Given the description of an element on the screen output the (x, y) to click on. 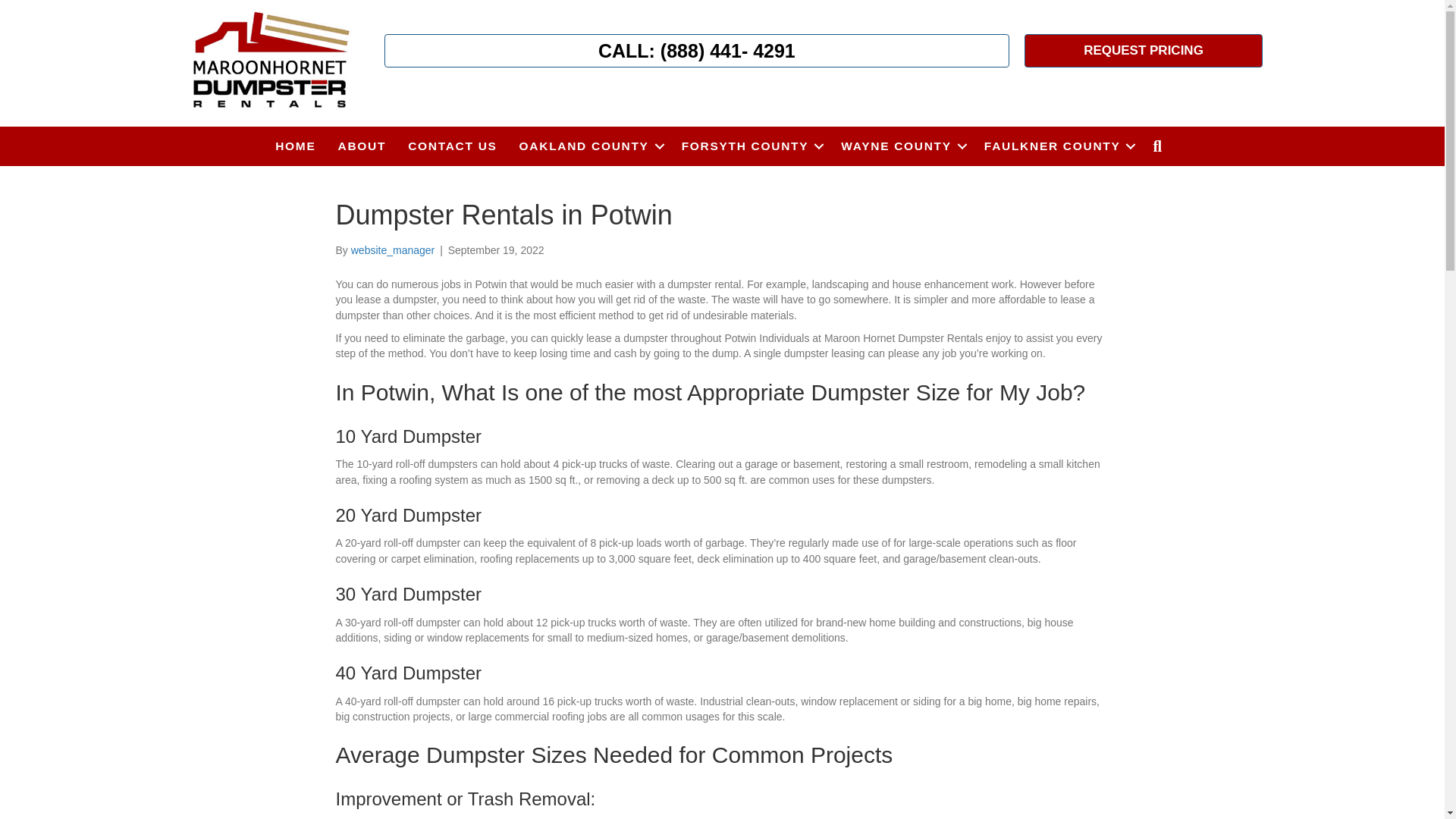
CONTACT US (451, 146)
WAYNE COUNTY (900, 146)
rental (269, 61)
ABOUT (362, 146)
HOME (295, 146)
OAKLAND COUNTY (588, 146)
FORSYTH COUNTY (750, 146)
REQUEST PRICING (1144, 50)
FAULKNER COUNTY (1057, 146)
